Given the description of an element on the screen output the (x, y) to click on. 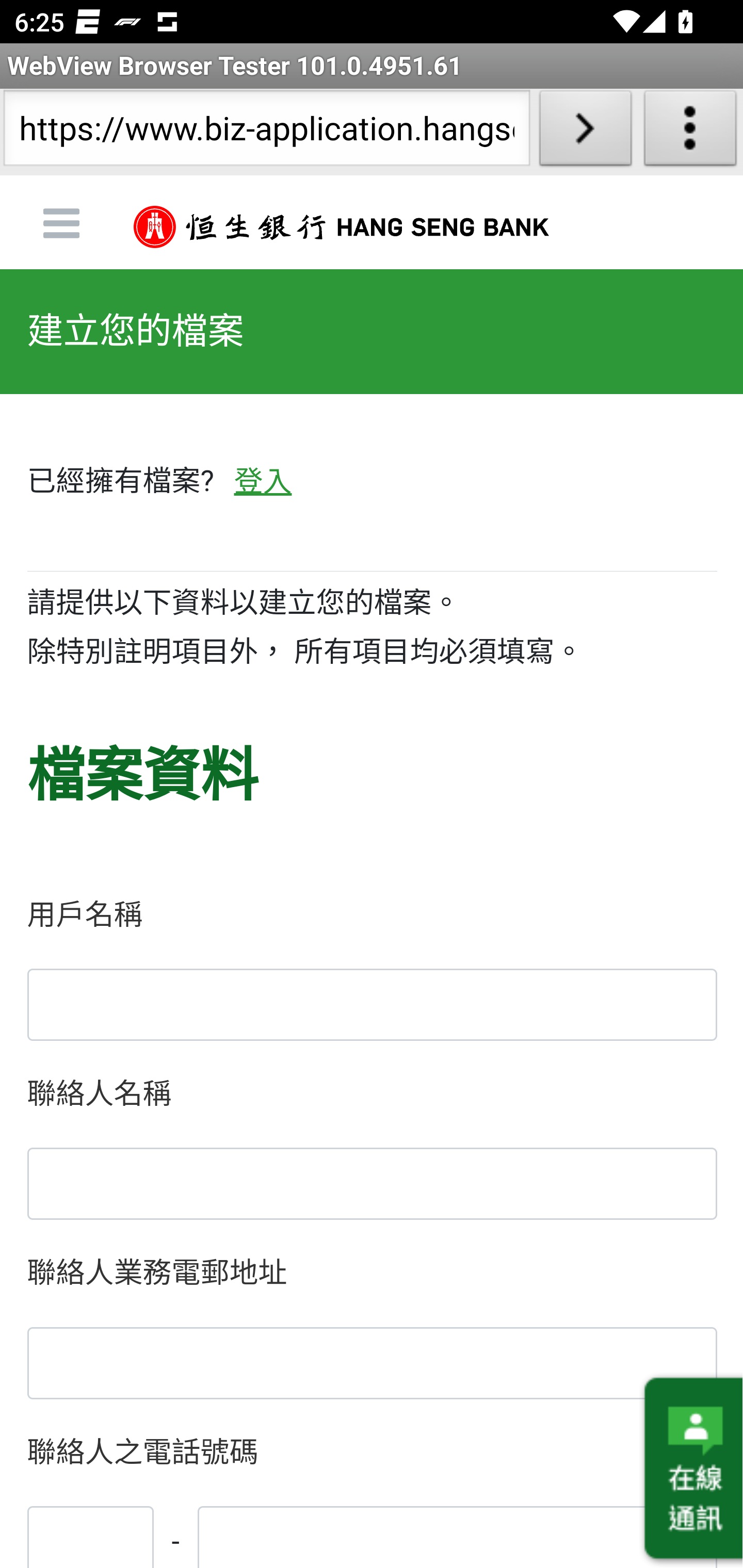
Load URL (585, 132)
About WebView (690, 132)
登入 (262, 482)
  (371, 1004)
  (371, 1182)
  (371, 1361)
在線通訊 (690, 1469)
  (90, 1535)
  (457, 1535)
